Given the description of an element on the screen output the (x, y) to click on. 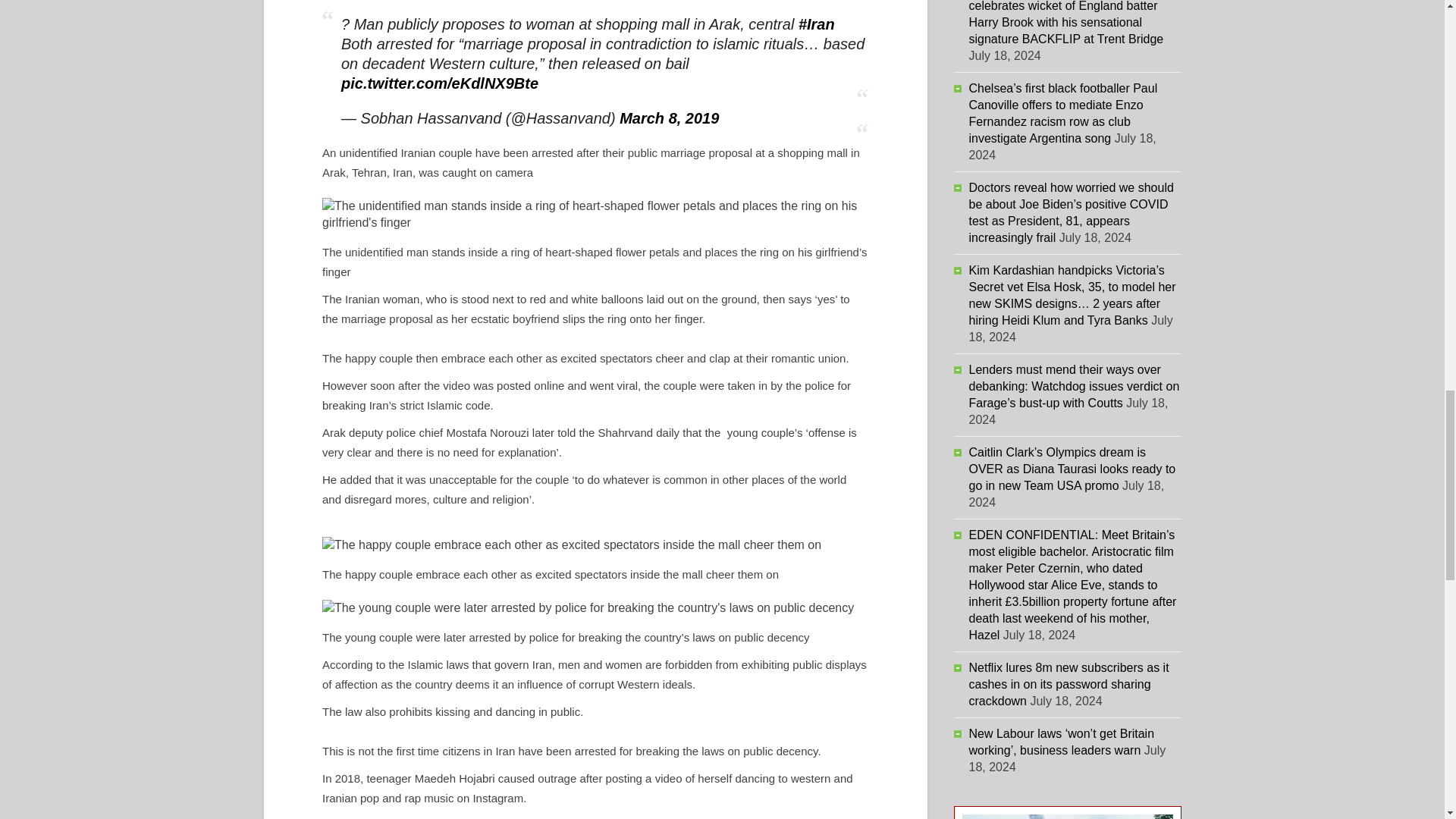
March 8, 2019 (669, 117)
